Given the description of an element on the screen output the (x, y) to click on. 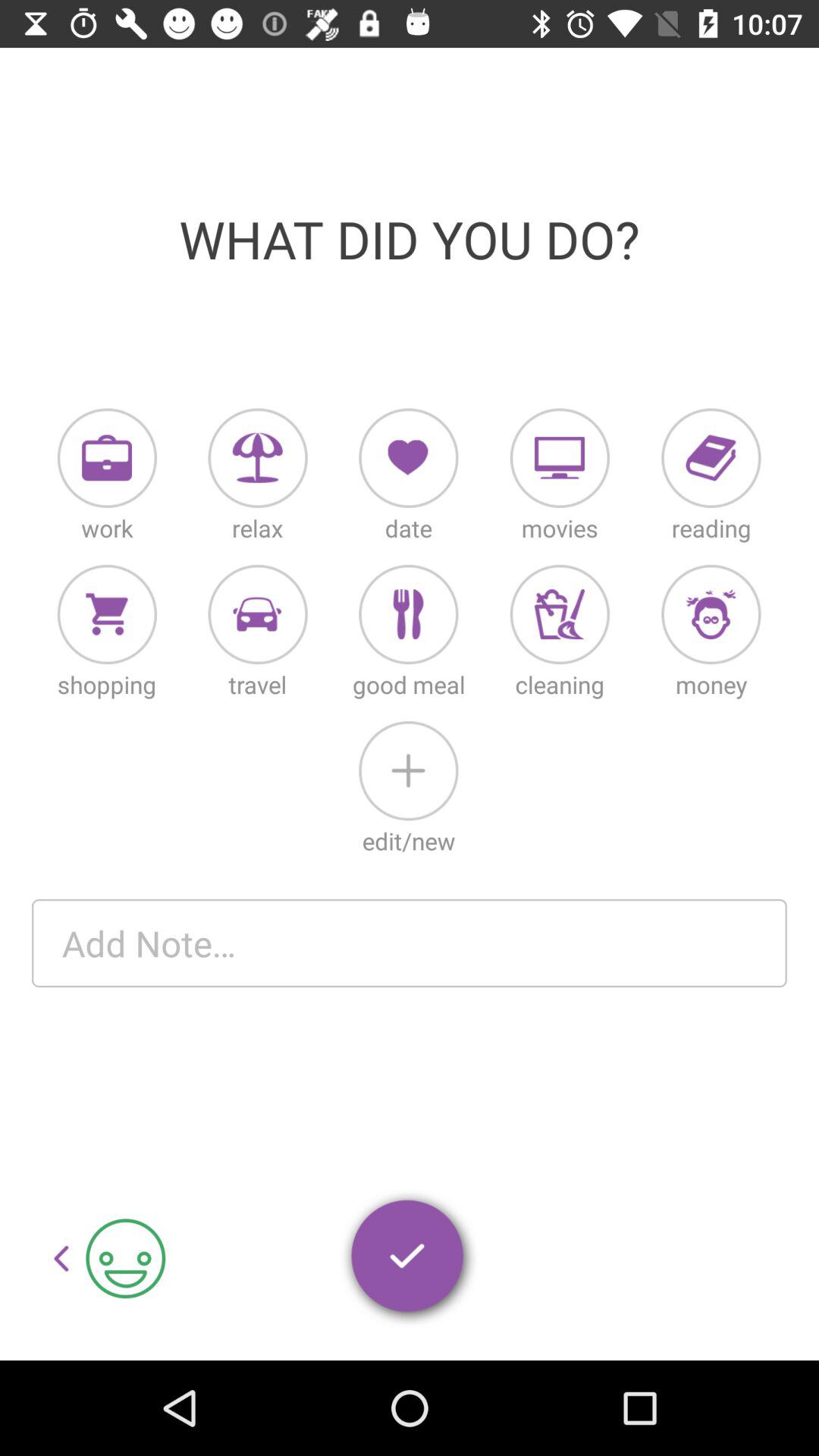
dating (408, 457)
